Given the description of an element on the screen output the (x, y) to click on. 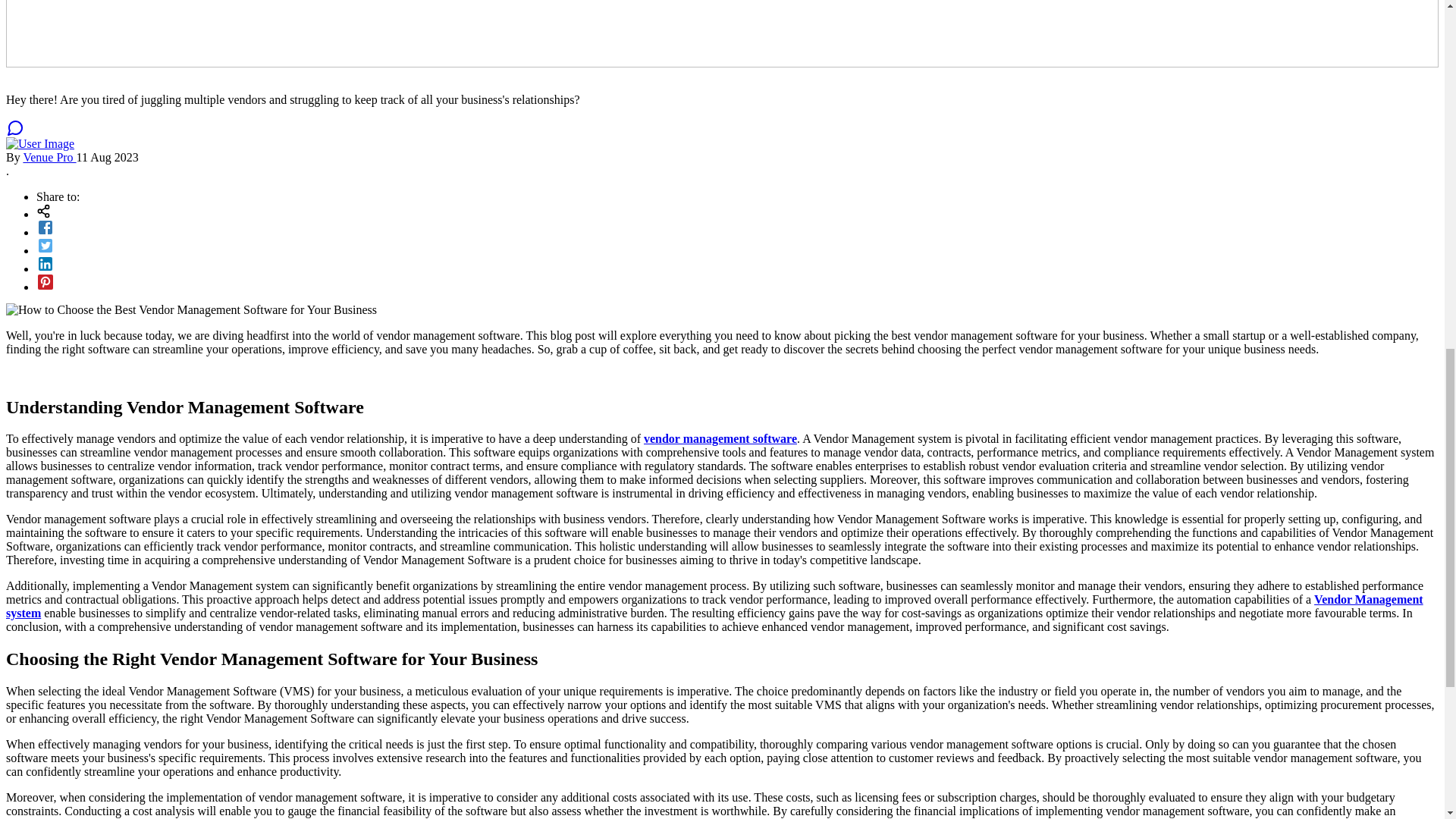
Twitter (737, 245)
Venue Pro (49, 156)
Facebook (737, 227)
vendor management software (719, 438)
Linkedin (737, 263)
Vendor Management system (714, 605)
Pinterest (737, 281)
